Given the description of an element on the screen output the (x, y) to click on. 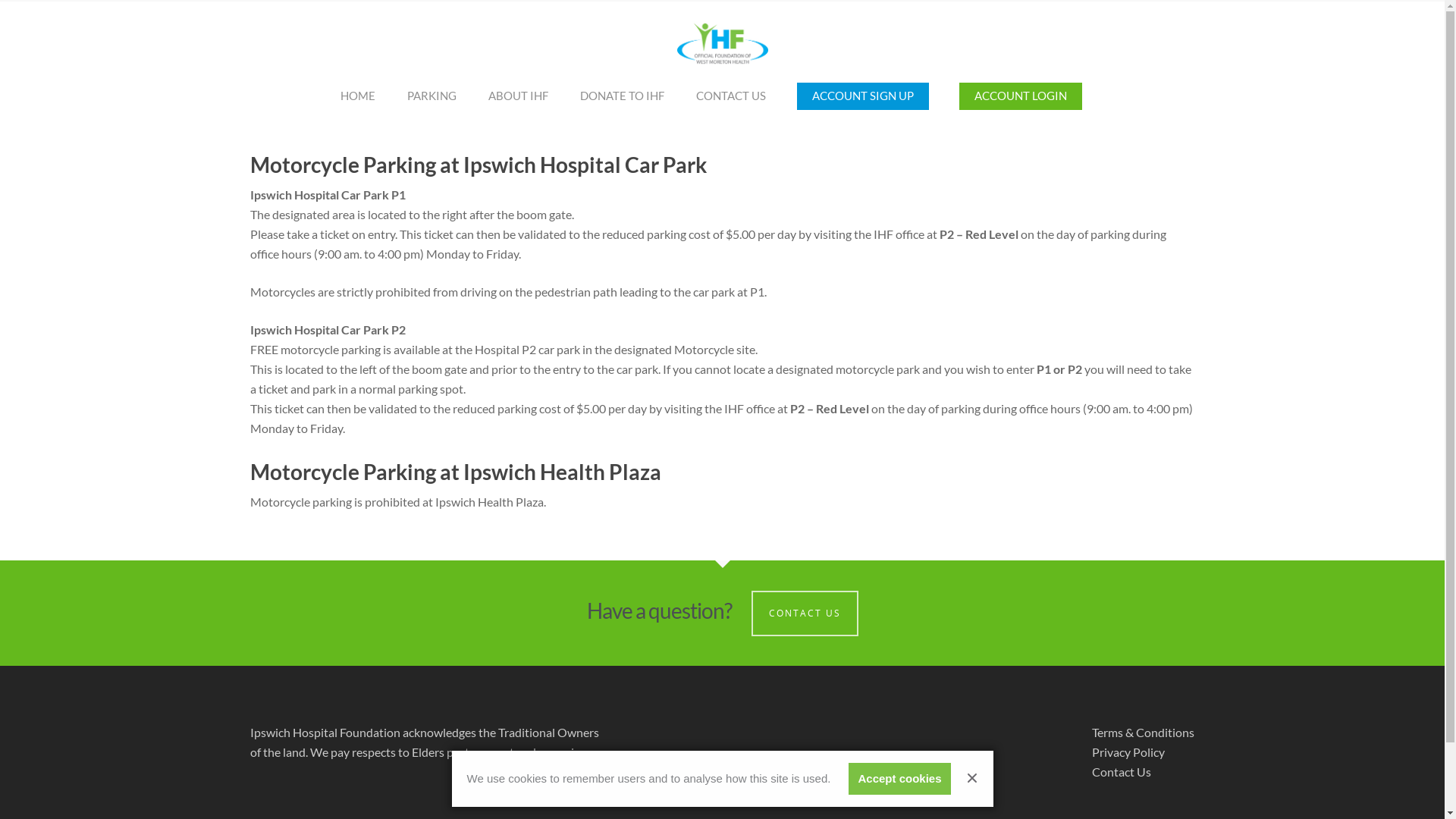
PARKING Element type: text (431, 103)
ABOUT IHF Element type: text (518, 103)
DONATE TO IHF Element type: text (621, 103)
Privacy Policy Element type: text (1128, 751)
CONTACT US Element type: text (803, 613)
CONTACT US Element type: text (730, 103)
Contact Us Element type: text (1121, 771)
Terms & Conditions Element type: text (1143, 731)
ACCOUNT LOGIN Element type: text (1020, 103)
HOME Element type: text (357, 103)
ACCOUNT SIGN UP Element type: text (862, 103)
Accept cookies Element type: text (899, 778)
